Given the description of an element on the screen output the (x, y) to click on. 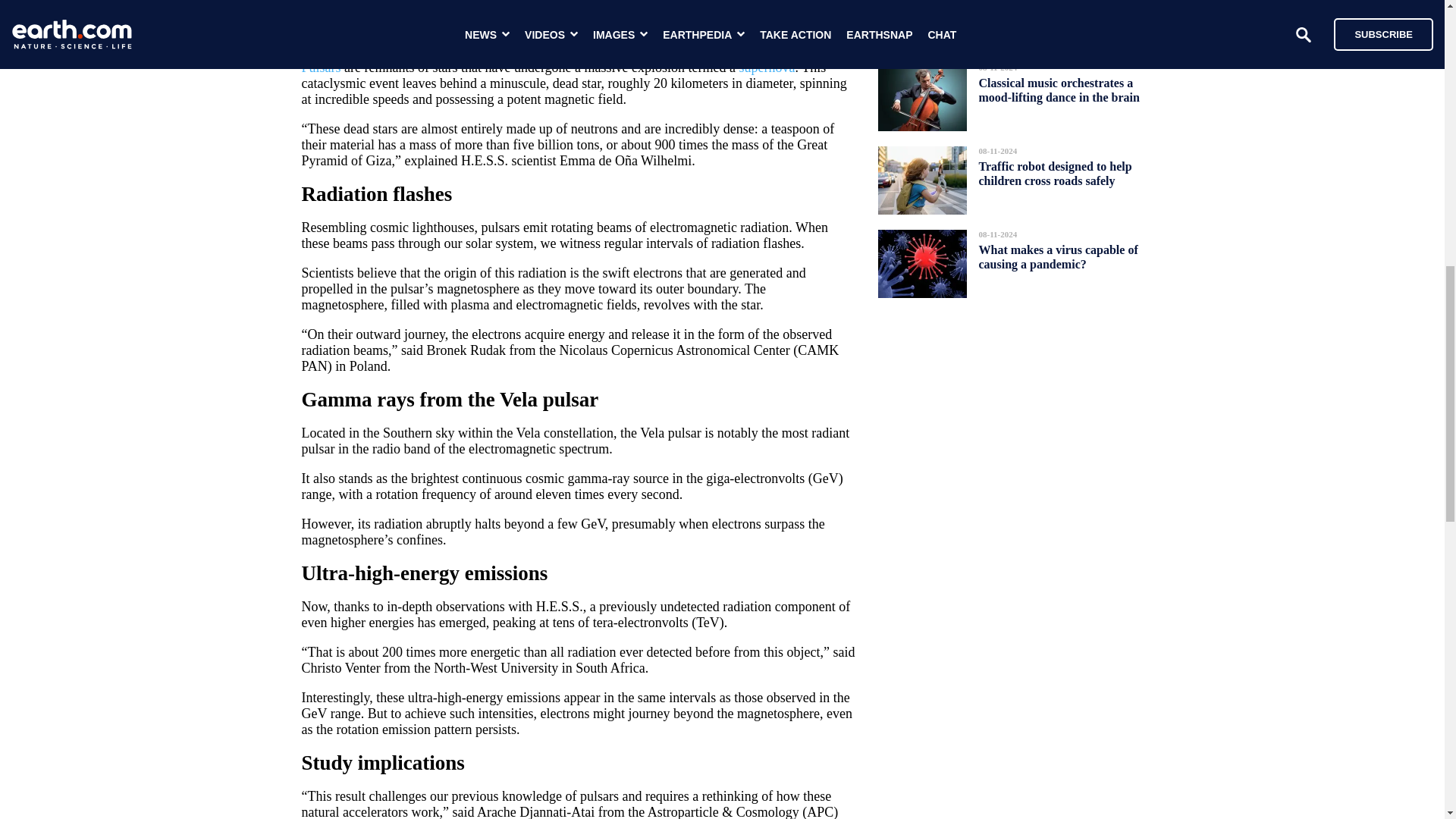
Pulsars (320, 67)
Traffic robot designed to help children cross roads safely (1054, 173)
supernova (766, 67)
